Given the description of an element on the screen output the (x, y) to click on. 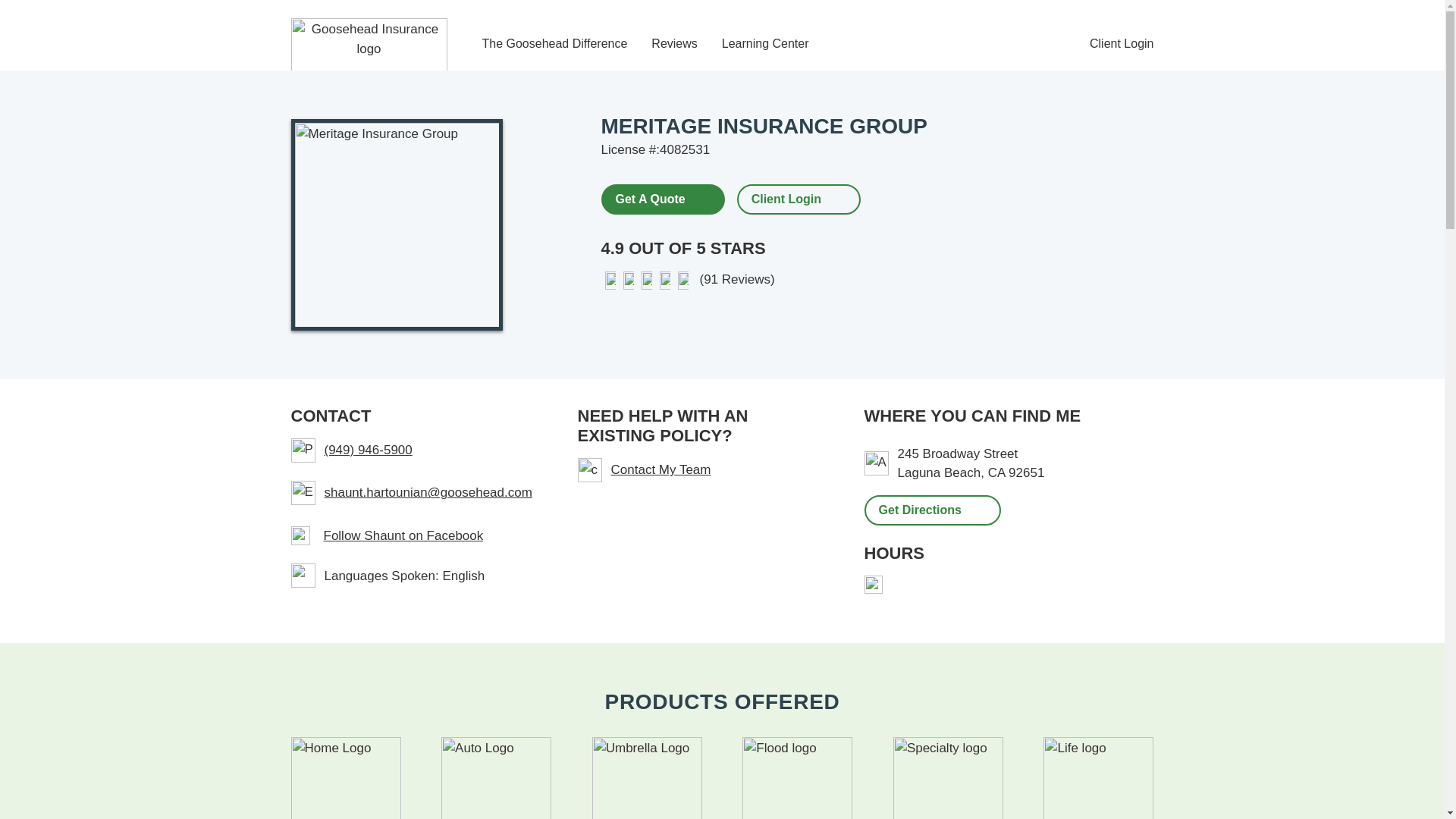
Get Directions (932, 510)
UMBRELLA (646, 778)
Client Login (786, 198)
AUTO (496, 778)
Contact My Team (703, 469)
FLOOD (796, 778)
LIFE (1098, 778)
Client Login (1121, 44)
Reviews (673, 44)
The Goosehead Difference (554, 44)
California (997, 472)
HOME (346, 778)
Get A Quote (661, 198)
Learning Center (765, 44)
